Given the description of an element on the screen output the (x, y) to click on. 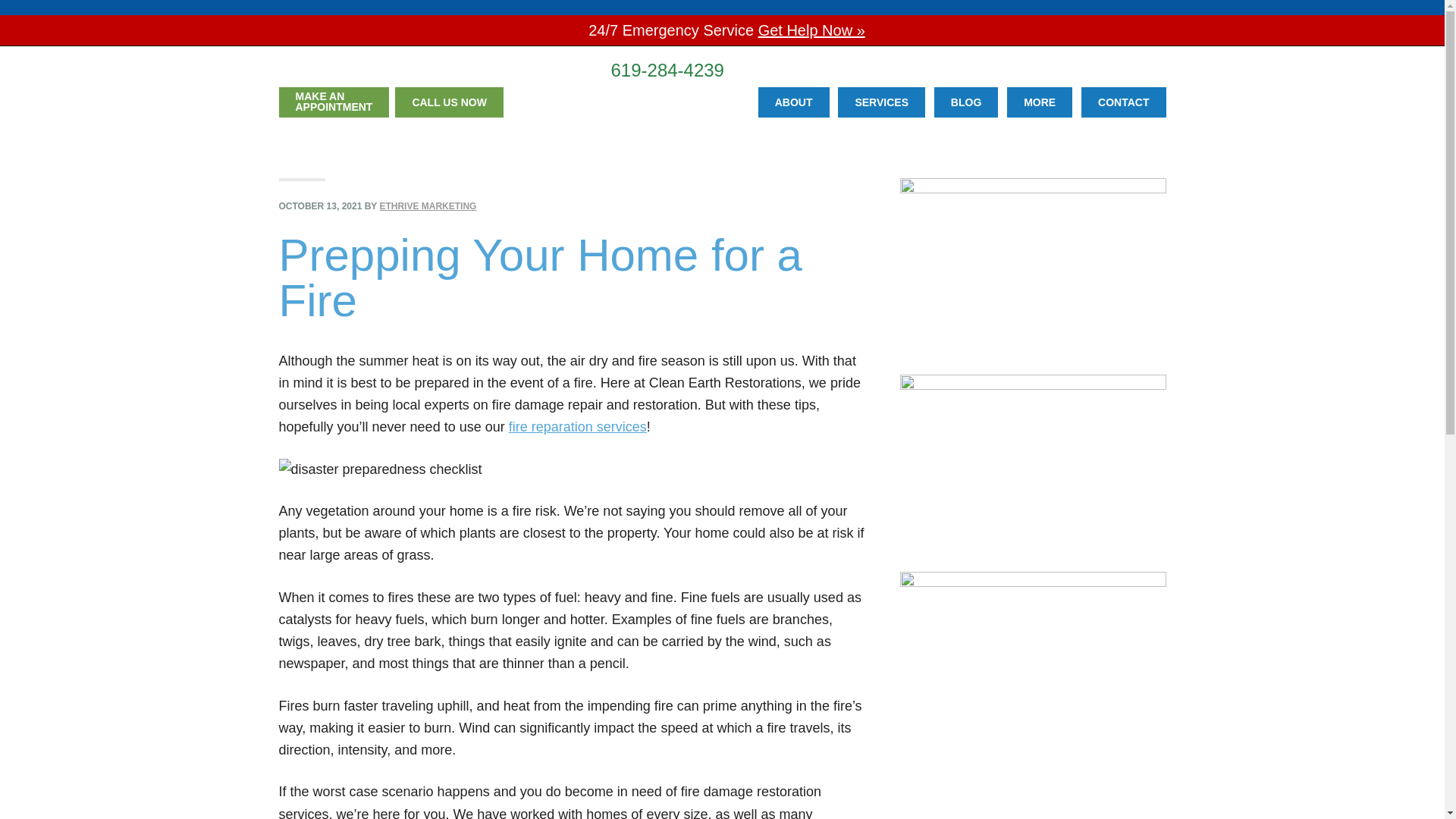
CALL US NOW (448, 101)
SERVICES (881, 101)
CONTACT (1123, 101)
CLEAN EARTH RESTORATIONS (437, 68)
BLOG (965, 101)
MORE (1039, 101)
619-284-4239 (667, 69)
fire reparation services (577, 426)
ETHRIVE MARKETING (427, 205)
